Given the description of an element on the screen output the (x, y) to click on. 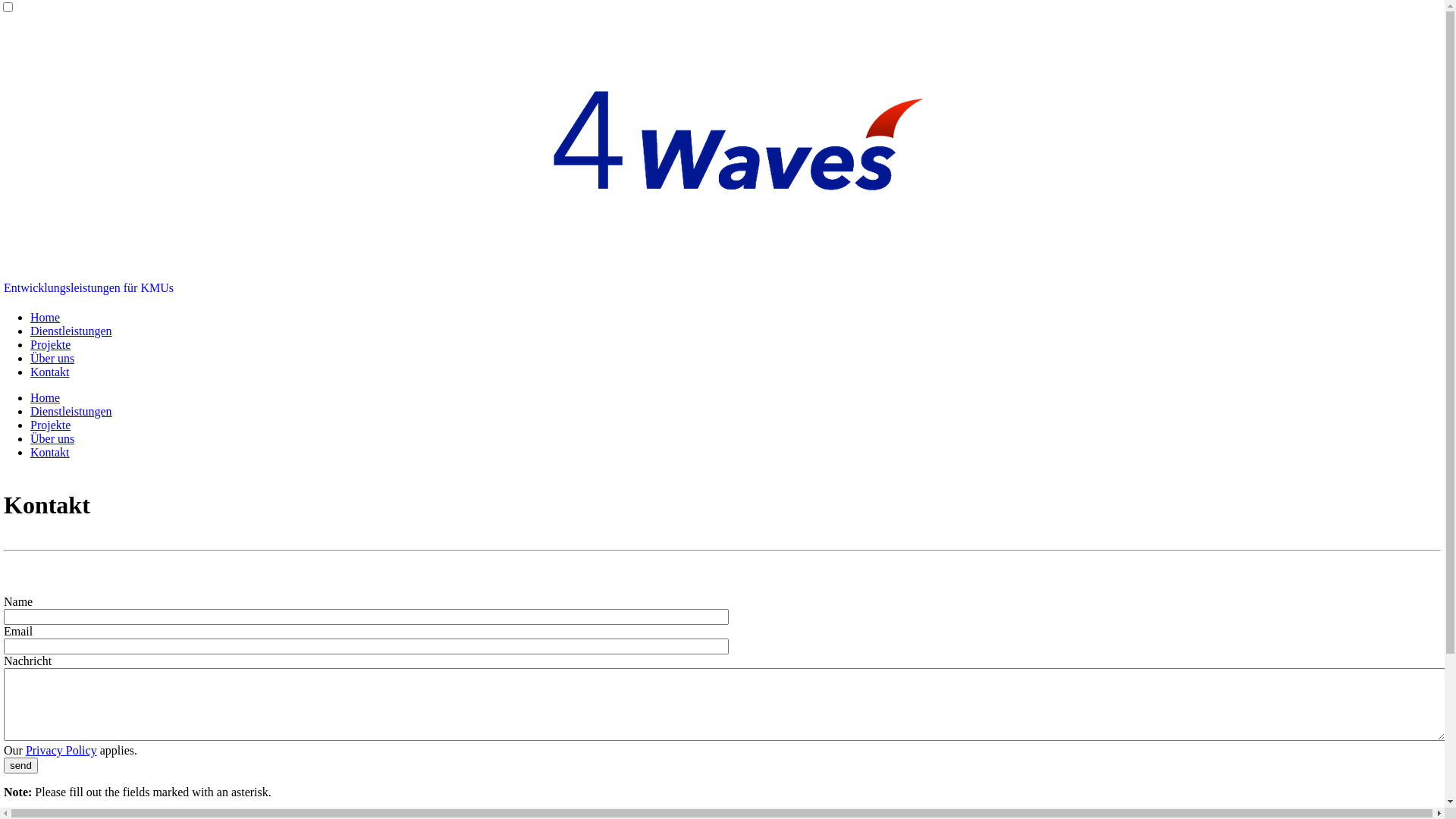
Dienstleistungen Element type: text (71, 330)
Home Element type: text (44, 397)
Projekte Element type: text (50, 344)
Dienstleistungen Element type: text (71, 410)
Projekte Element type: text (50, 424)
Kontakt Element type: text (49, 371)
send Element type: text (20, 765)
Home Element type: text (44, 316)
Kontakt Element type: text (49, 451)
Privacy Policy Element type: text (61, 749)
